Given the description of an element on the screen output the (x, y) to click on. 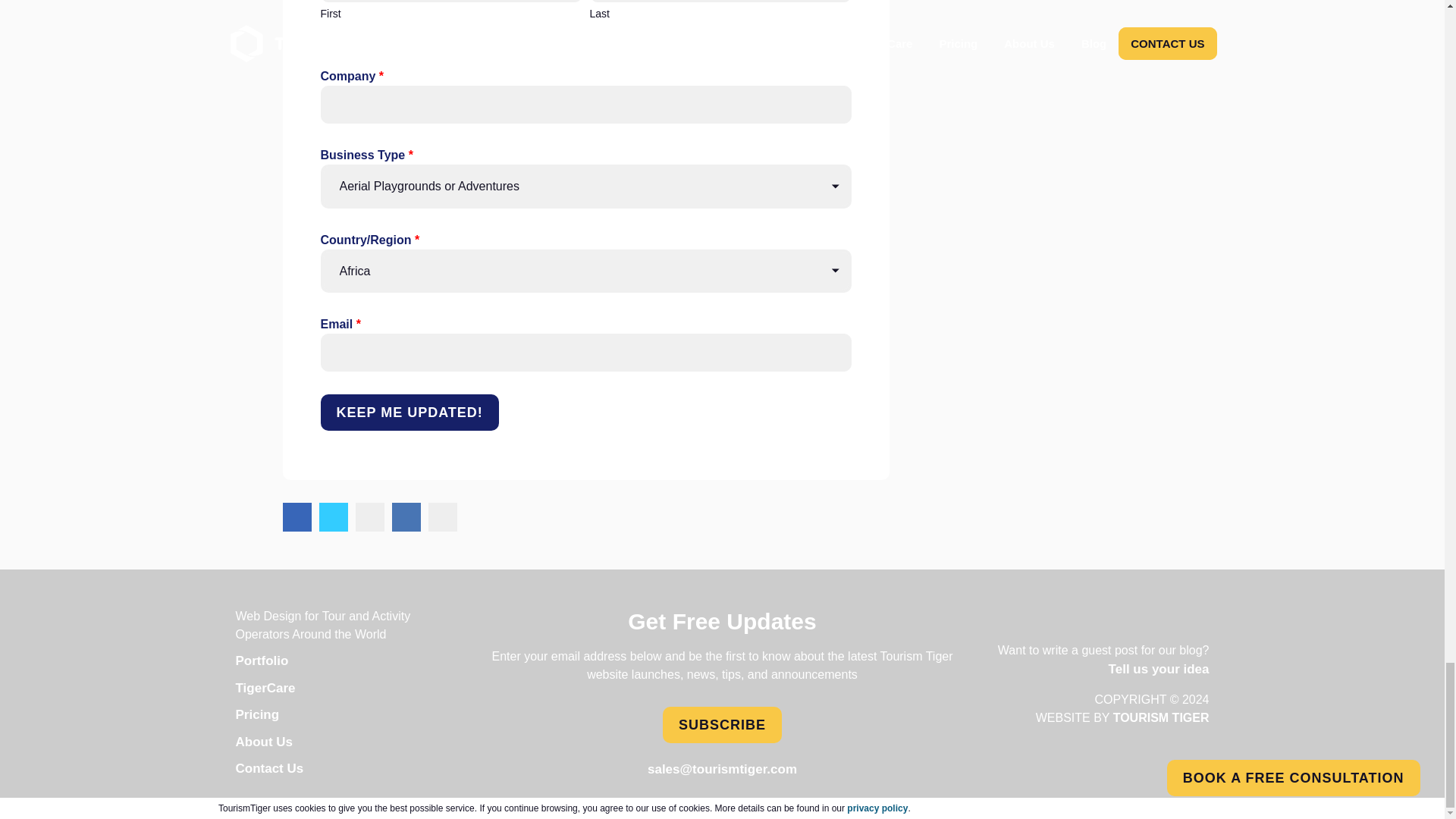
Share via instagram (369, 516)
Share via google (442, 516)
Share via linkedin (405, 516)
Share via twitter (332, 516)
Share via facebook (296, 516)
KEEP ME UPDATED! (408, 411)
